Given the description of an element on the screen output the (x, y) to click on. 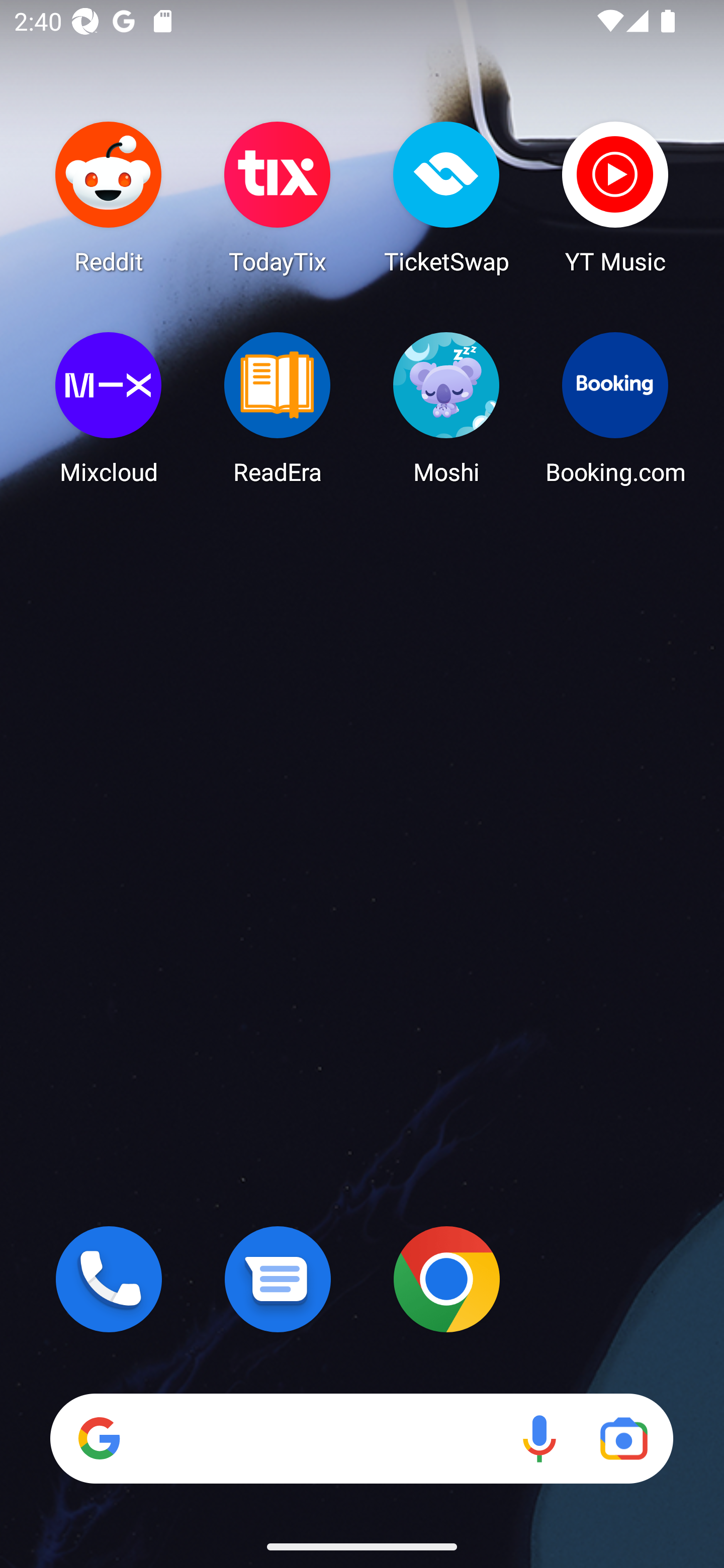
Reddit (108, 196)
TodayTix (277, 196)
TicketSwap (445, 196)
YT Music (615, 196)
Mixcloud (108, 407)
ReadEra (277, 407)
Moshi (445, 407)
Booking.com (615, 407)
Phone (108, 1279)
Messages (277, 1279)
Chrome (446, 1279)
Search Voice search Google Lens (361, 1438)
Voice search (539, 1438)
Google Lens (623, 1438)
